Given the description of an element on the screen output the (x, y) to click on. 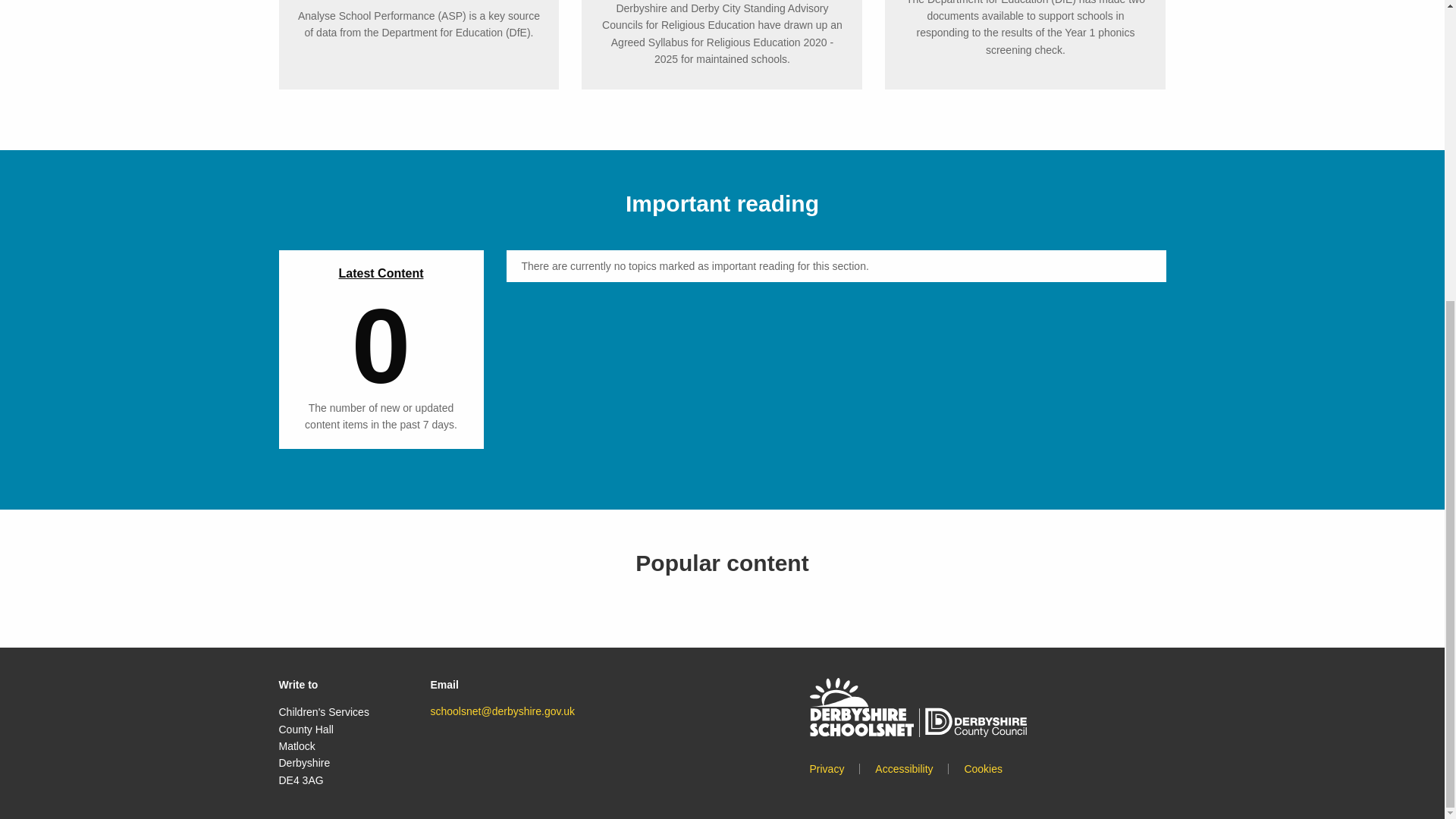
accessibility (896, 768)
Accessibility (896, 768)
privacy (826, 768)
Privacy (826, 768)
cookies (975, 768)
Cookies (975, 768)
